Given the description of an element on the screen output the (x, y) to click on. 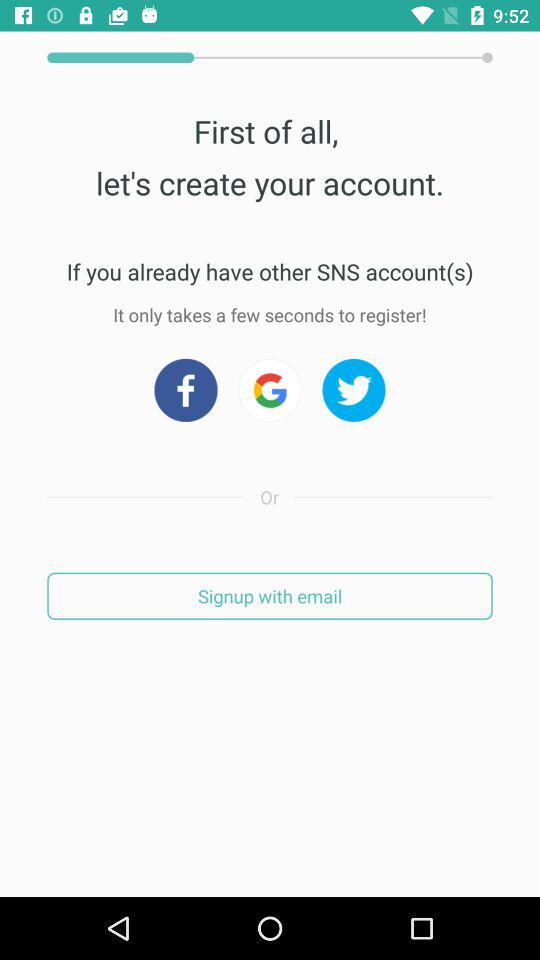
facebook app (185, 389)
